Given the description of an element on the screen output the (x, y) to click on. 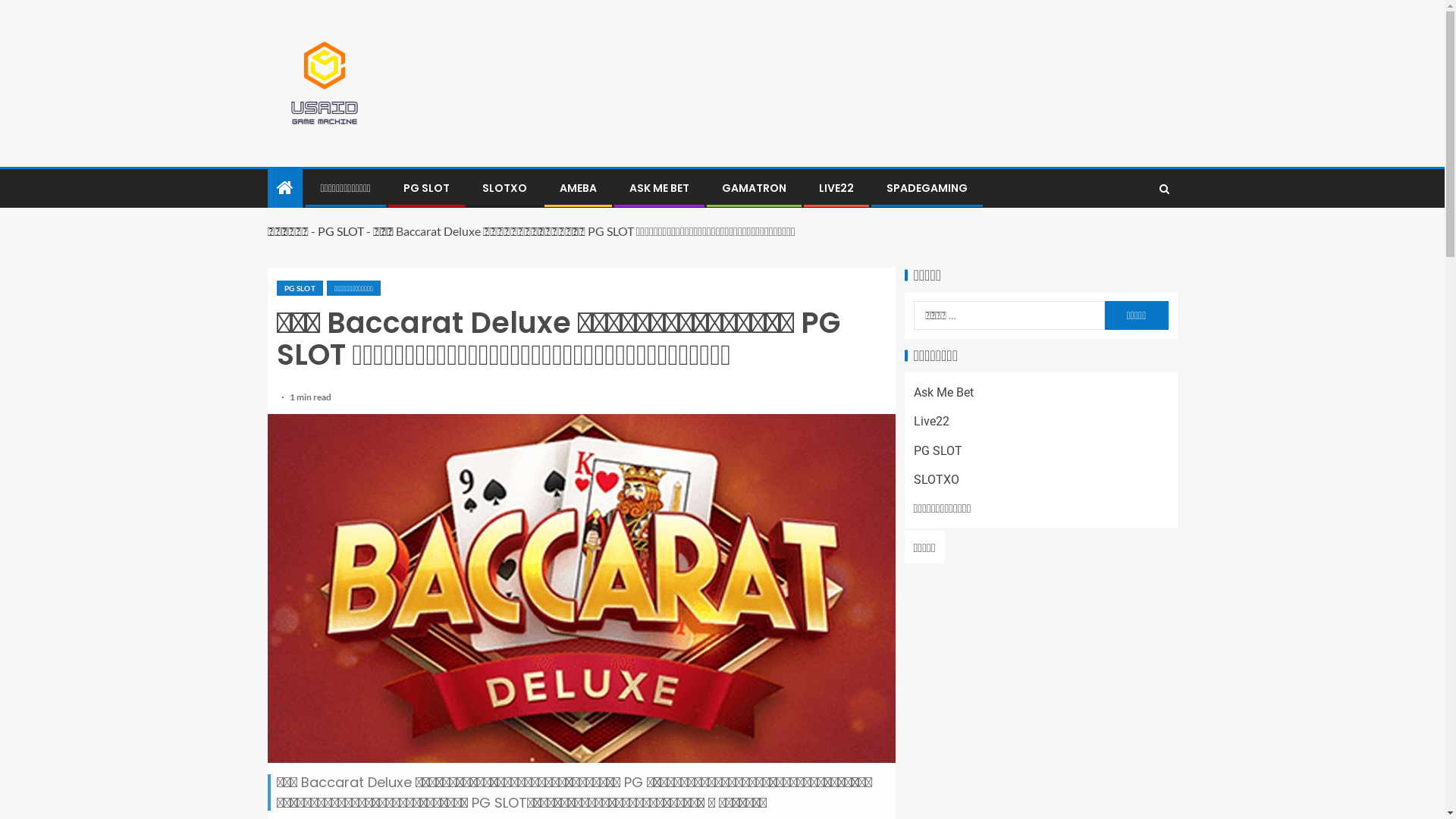
SLOTXO Element type: text (935, 479)
Search Element type: hover (1163, 188)
PG SLOT Element type: text (426, 187)
PG SLOT Element type: text (339, 230)
GAMATRON Element type: text (753, 187)
PG SLOT Element type: text (299, 287)
Live22 Element type: text (930, 421)
SLOTXO Element type: text (504, 187)
AMEBA Element type: text (577, 187)
ASK ME BET Element type: text (659, 187)
LIVE22 Element type: text (836, 187)
PG SLOT Element type: text (937, 450)
Ask Me Bet Element type: text (942, 392)
SPADEGAMING Element type: text (926, 187)
